Given the description of an element on the screen output the (x, y) to click on. 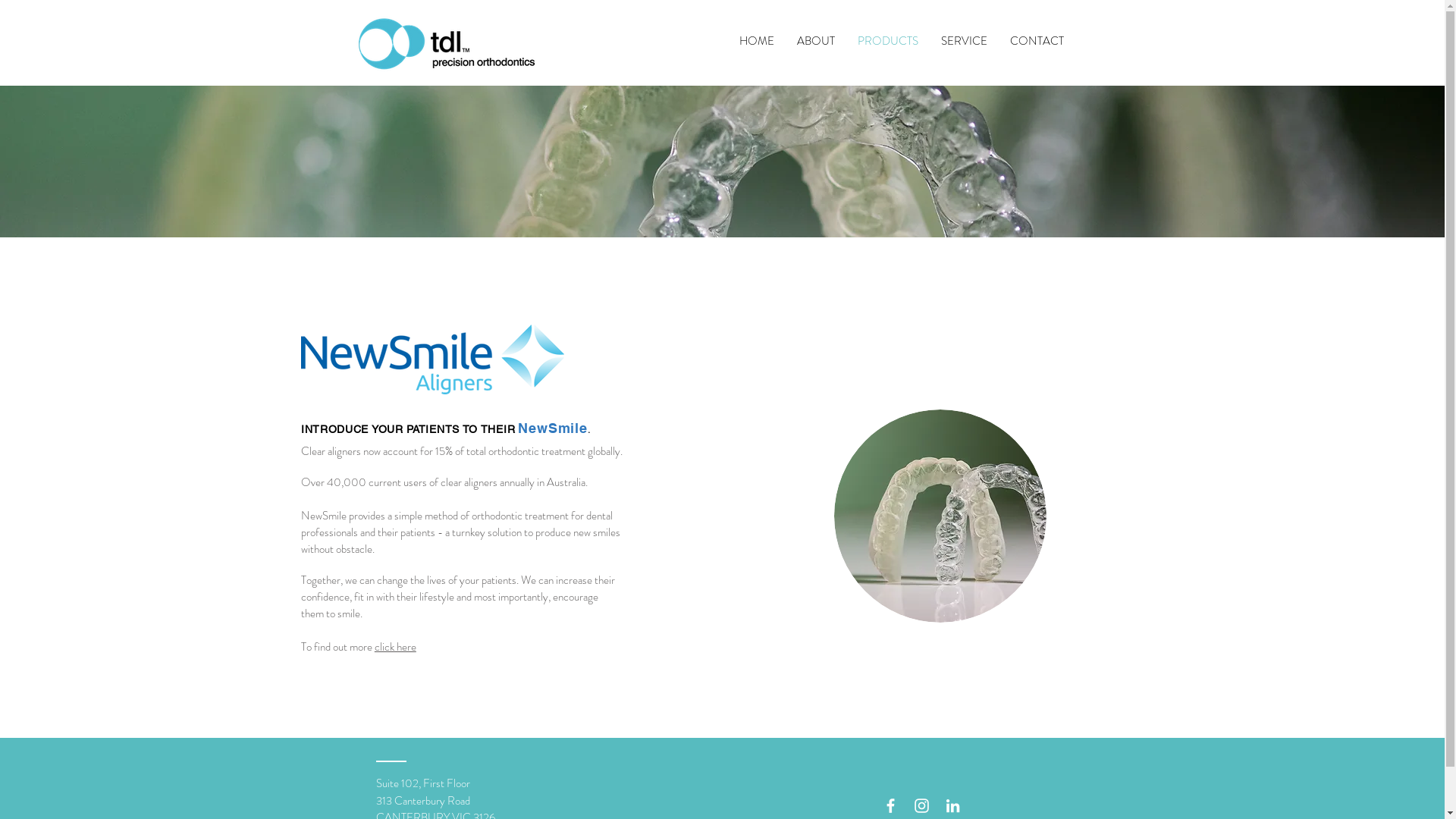
CONTACT Element type: text (1035, 40)
PRODUCTS Element type: text (887, 40)
click here Element type: text (395, 646)
ABOUT Element type: text (815, 40)
guy2.jpg Element type: hover (940, 515)
SERVICE Element type: text (963, 40)
HOME Element type: text (756, 40)
